Given the description of an element on the screen output the (x, y) to click on. 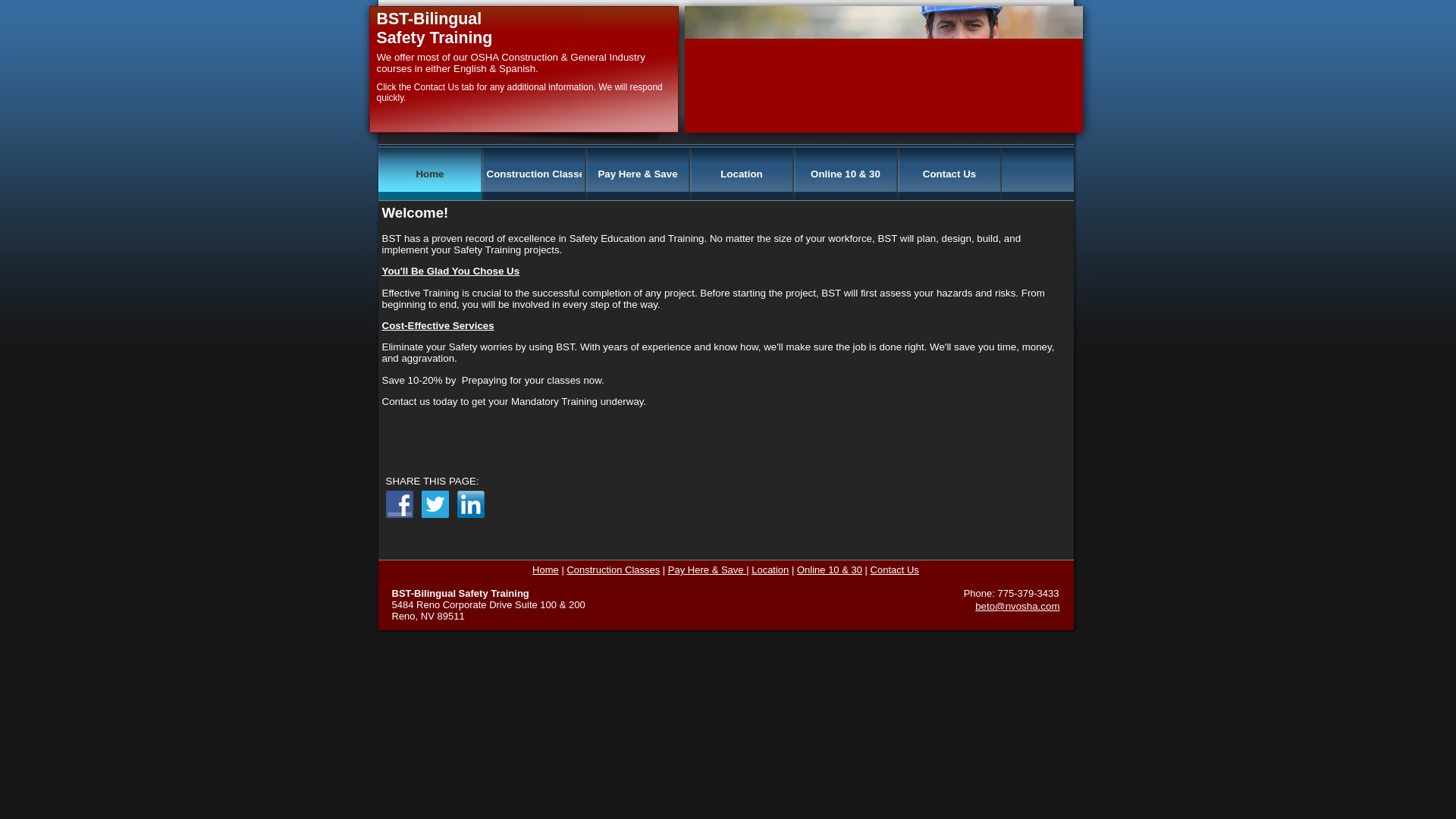
Home (429, 173)
Location (741, 173)
Contact Us (894, 569)
Construction Classes (533, 173)
Contact Us (949, 173)
Home (545, 569)
Location (770, 569)
Construction Classes (612, 569)
